Given the description of an element on the screen output the (x, y) to click on. 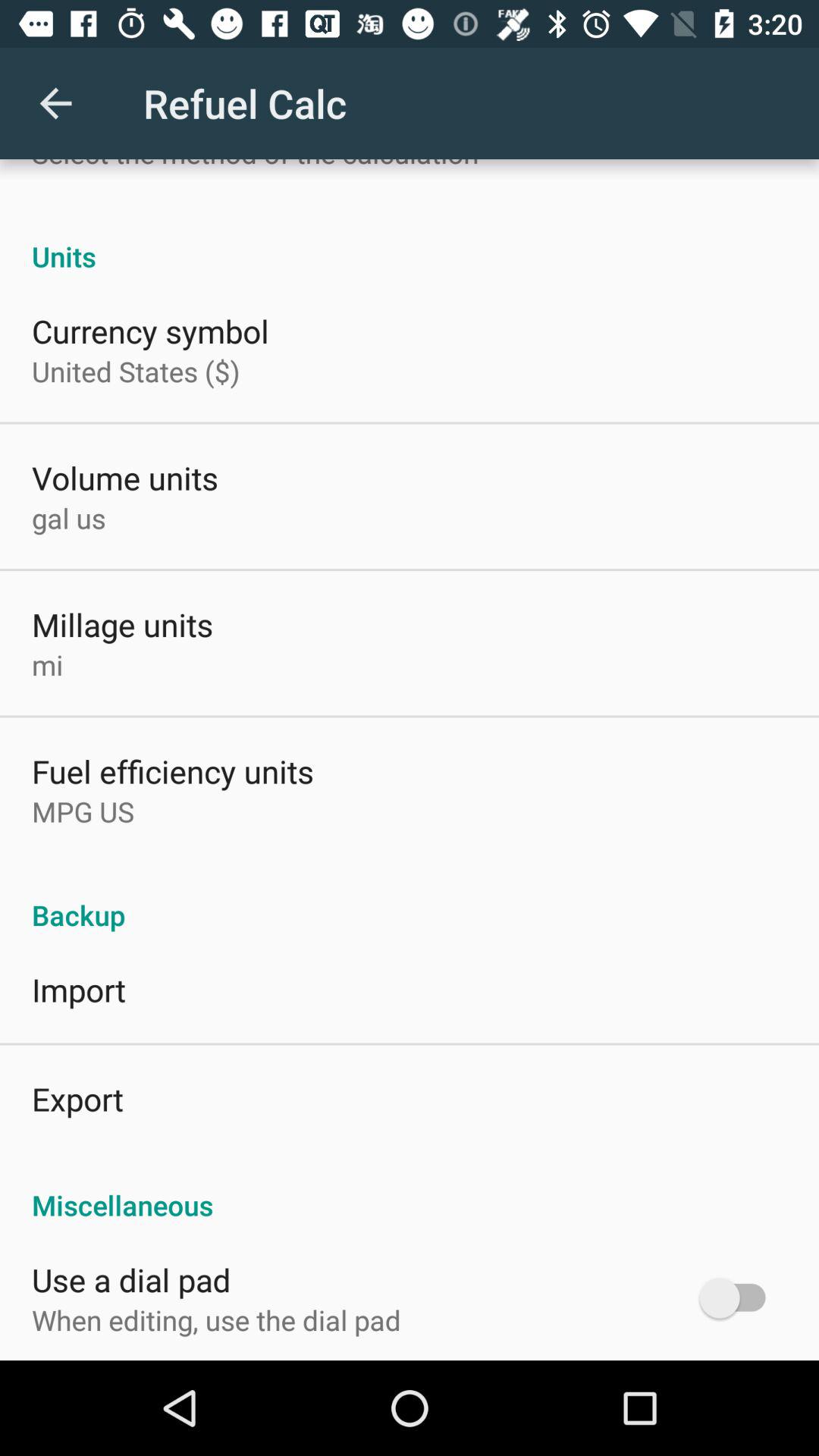
launch the icon below the gal us app (122, 624)
